Given the description of an element on the screen output the (x, y) to click on. 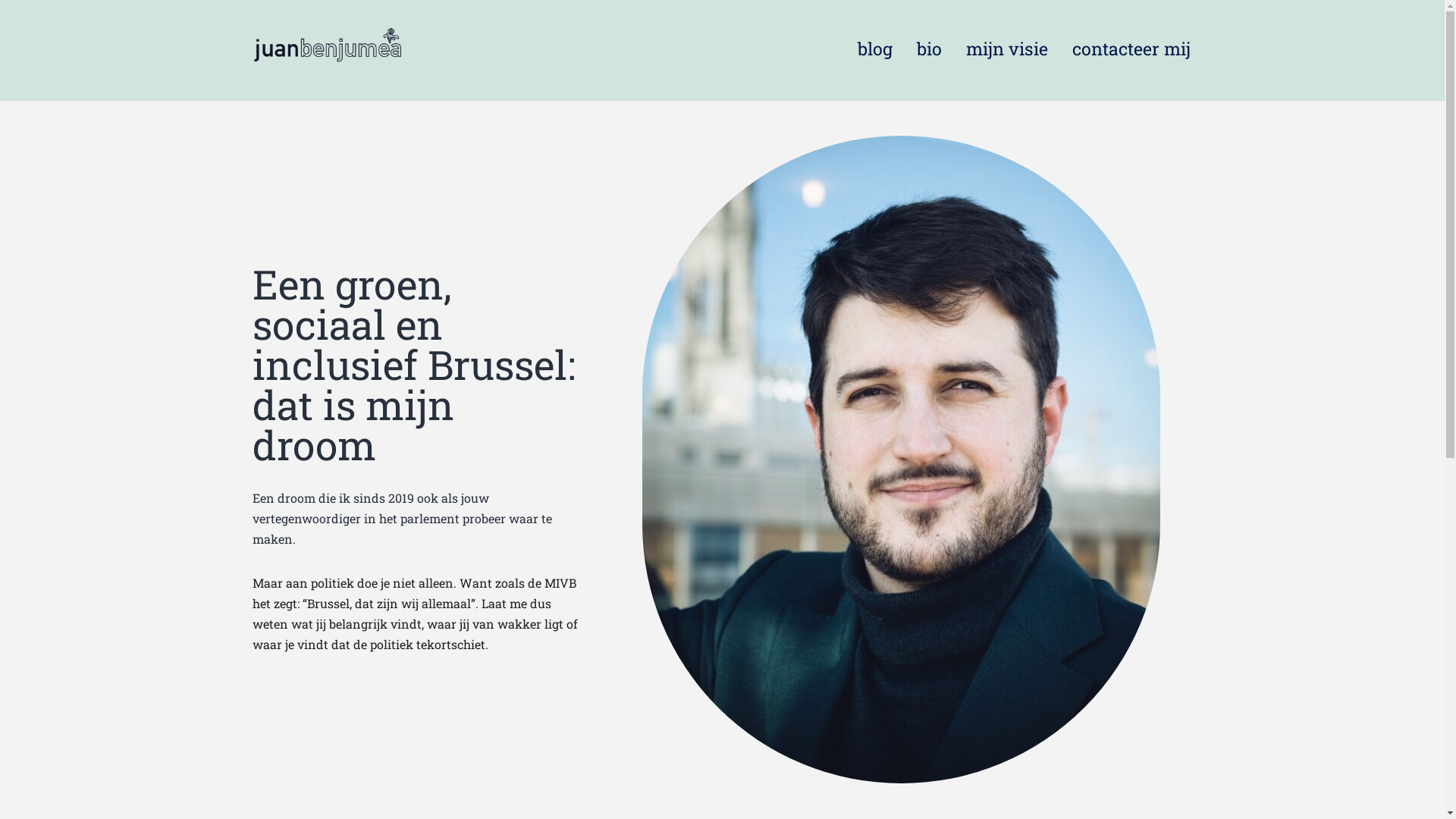
mijn visie Element type: text (1006, 48)
blog Element type: text (874, 48)
bio Element type: text (928, 48)
contacteer mij Element type: text (1131, 48)
